Given the description of an element on the screen output the (x, y) to click on. 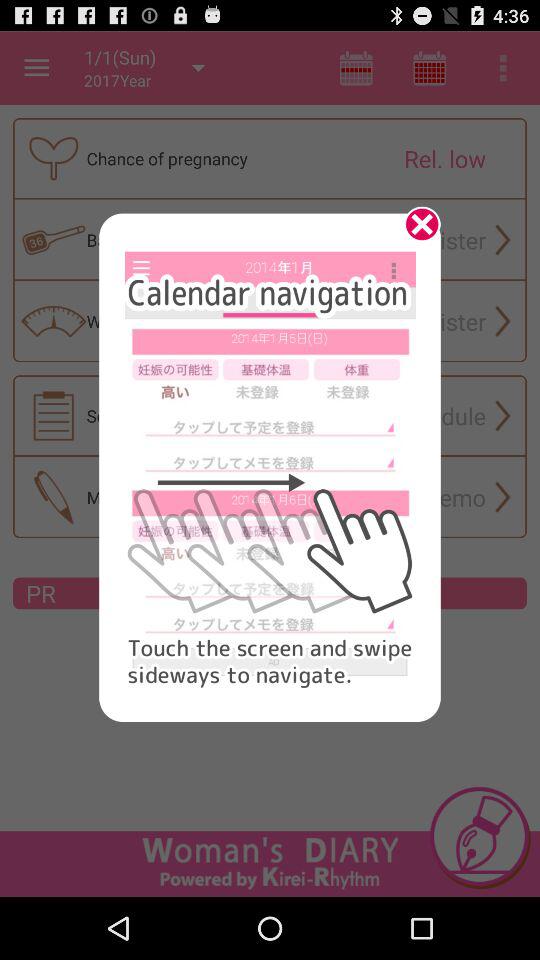
press the item at the top right corner (415, 231)
